Given the description of an element on the screen output the (x, y) to click on. 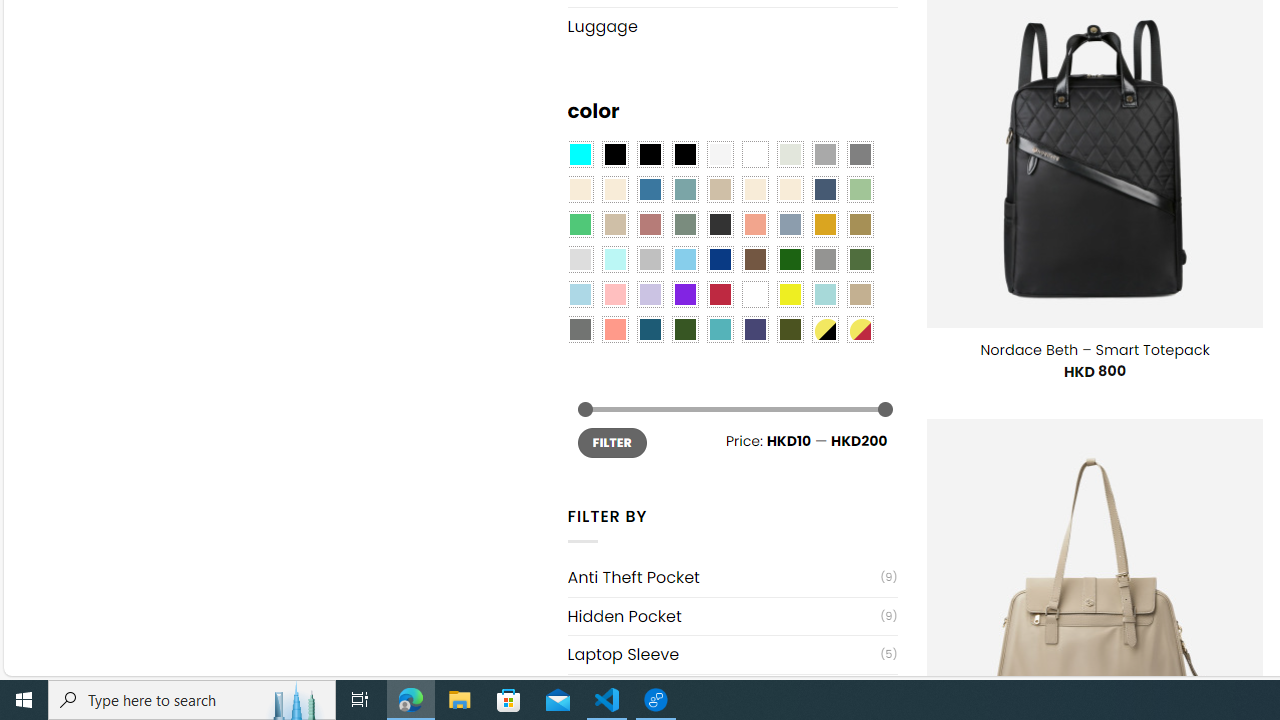
Light Gray (579, 259)
Purple Navy (755, 329)
Cream (789, 190)
Red (719, 295)
Hidden Pocket(9) (732, 615)
Laptop Sleeve (723, 654)
